Given the description of an element on the screen output the (x, y) to click on. 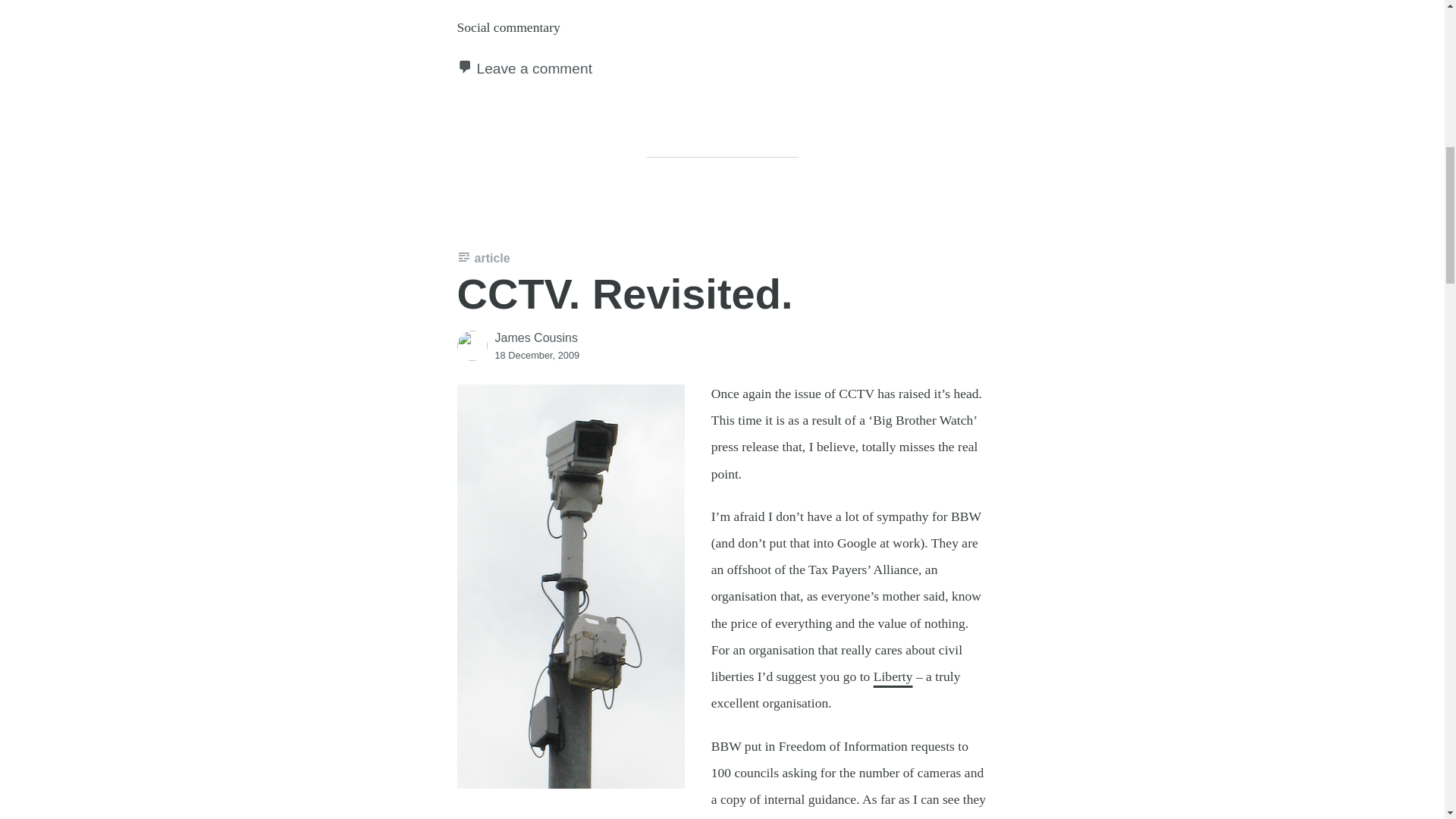
2:49 pm (537, 354)
article (483, 257)
18 December, 2009 (537, 354)
James Cousins (535, 337)
View all posts by James Cousins (535, 337)
CCTV. Revisited. (624, 293)
Leave a comment (534, 68)
Permalink to CCTV. Revisited. (624, 293)
Liberty (892, 676)
